Given the description of an element on the screen output the (x, y) to click on. 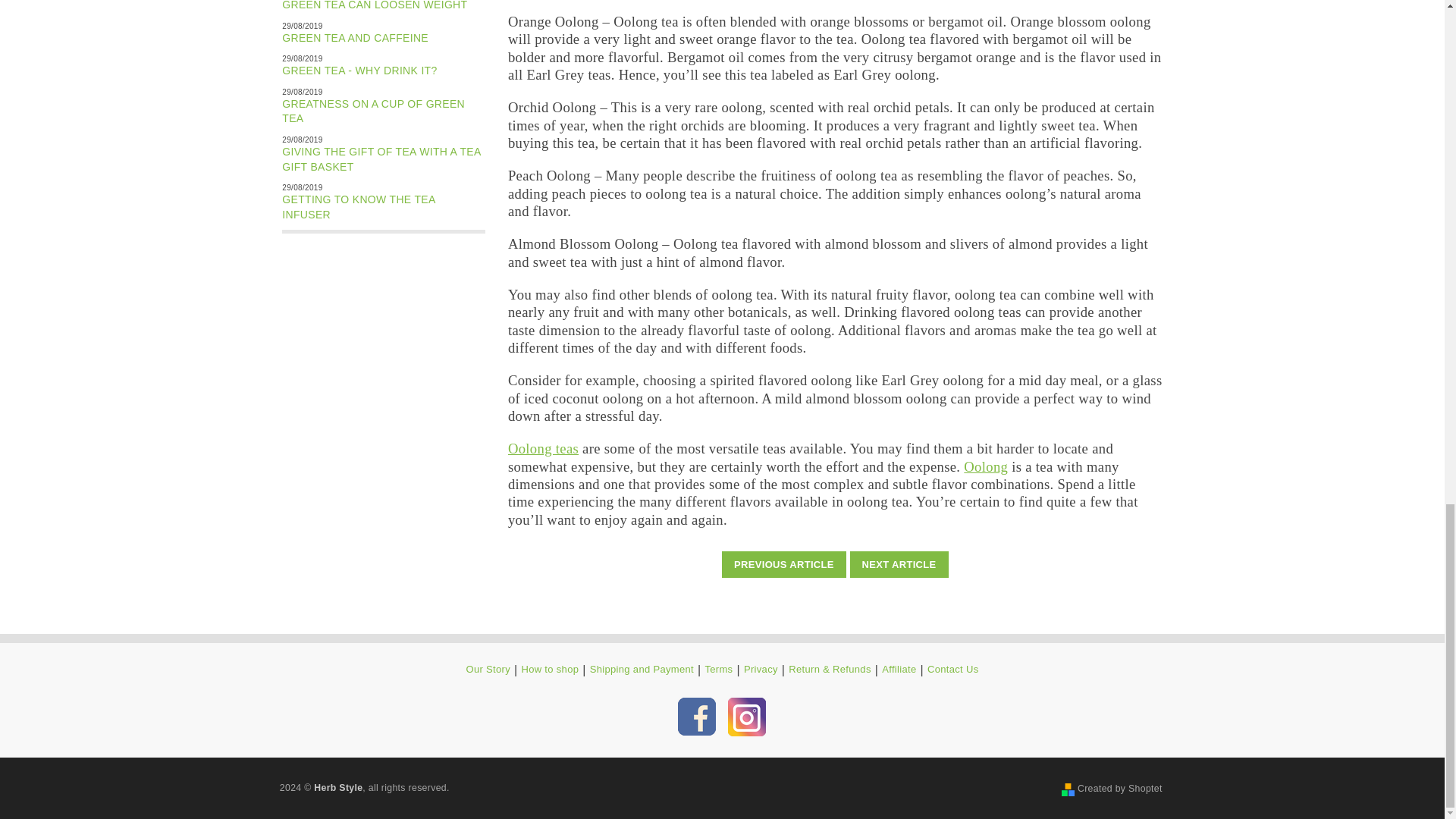
GETTING TO KNOW THE TEA INFUSER (358, 206)
GREEN TEA CAN LOOSEN WEIGHT (374, 5)
Green Tea Can Loosen Weight (374, 5)
GREEN TEA AND CAFFEINE (355, 37)
Affiliate (898, 670)
NEXT ARTICLE (899, 564)
GREEN TEA - WHY DRINK IT? (359, 70)
Giving The Gift Of Tea With A Tea Gift Basket (381, 158)
Greatness on a Cup of Green Tea (373, 111)
Green Tea and Caffeine (355, 37)
Previous article (783, 564)
Our Story (488, 670)
Contact Us (952, 670)
Next article (899, 564)
Oolong (985, 466)
